Given the description of an element on the screen output the (x, y) to click on. 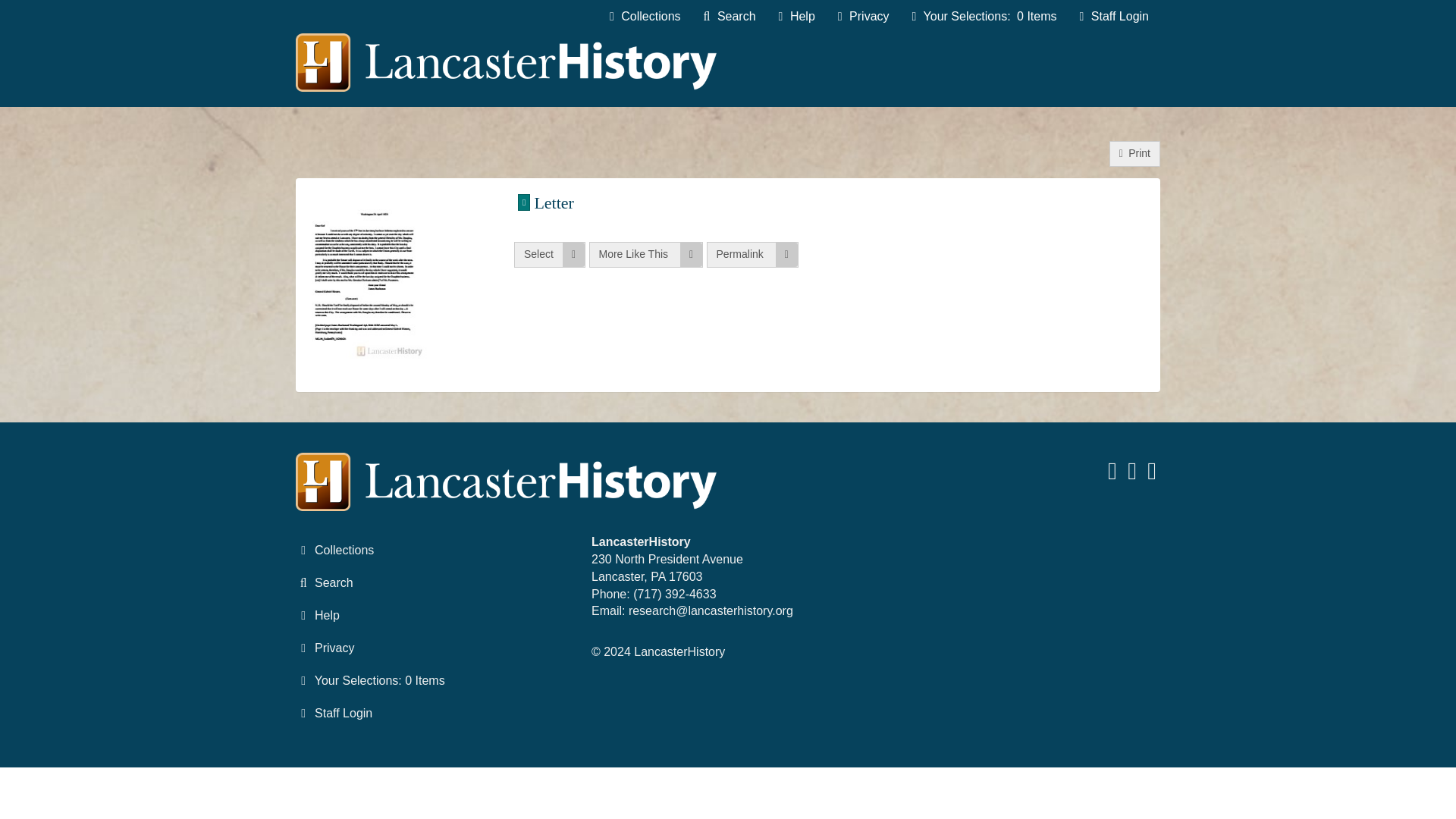
Permalink (751, 254)
 Your Selections: 0 Items (984, 16)
Select (549, 254)
More Like This (645, 254)
 Staff Login (1113, 16)
 Search (730, 16)
Select (549, 254)
 Collections (645, 16)
Print (1134, 153)
 Privacy (864, 16)
 Help (797, 16)
Permalink (751, 254)
More Like This (645, 254)
Toggle Full Record (838, 202)
